Given the description of an element on the screen output the (x, y) to click on. 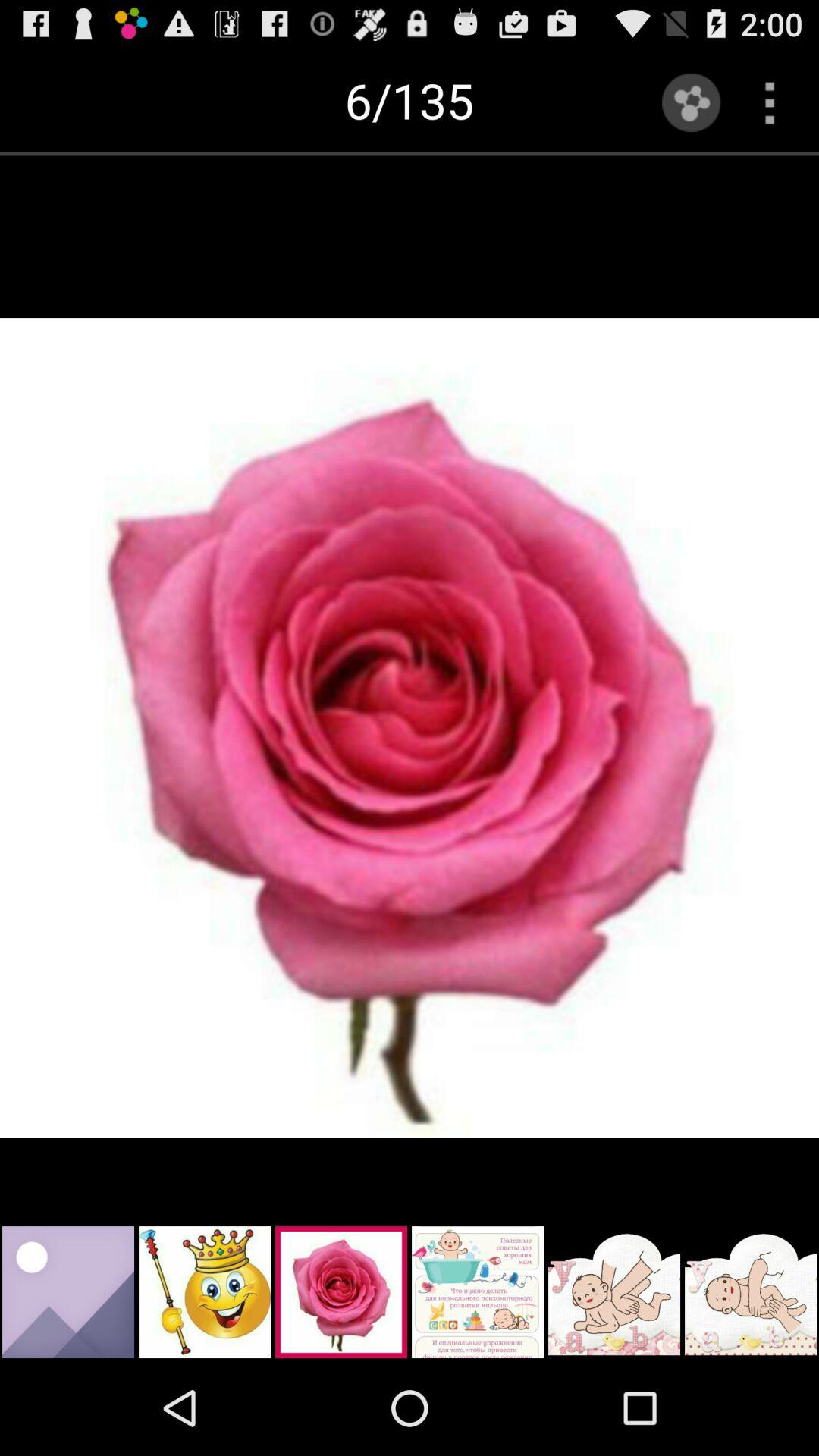
options (769, 102)
